Given the description of an element on the screen output the (x, y) to click on. 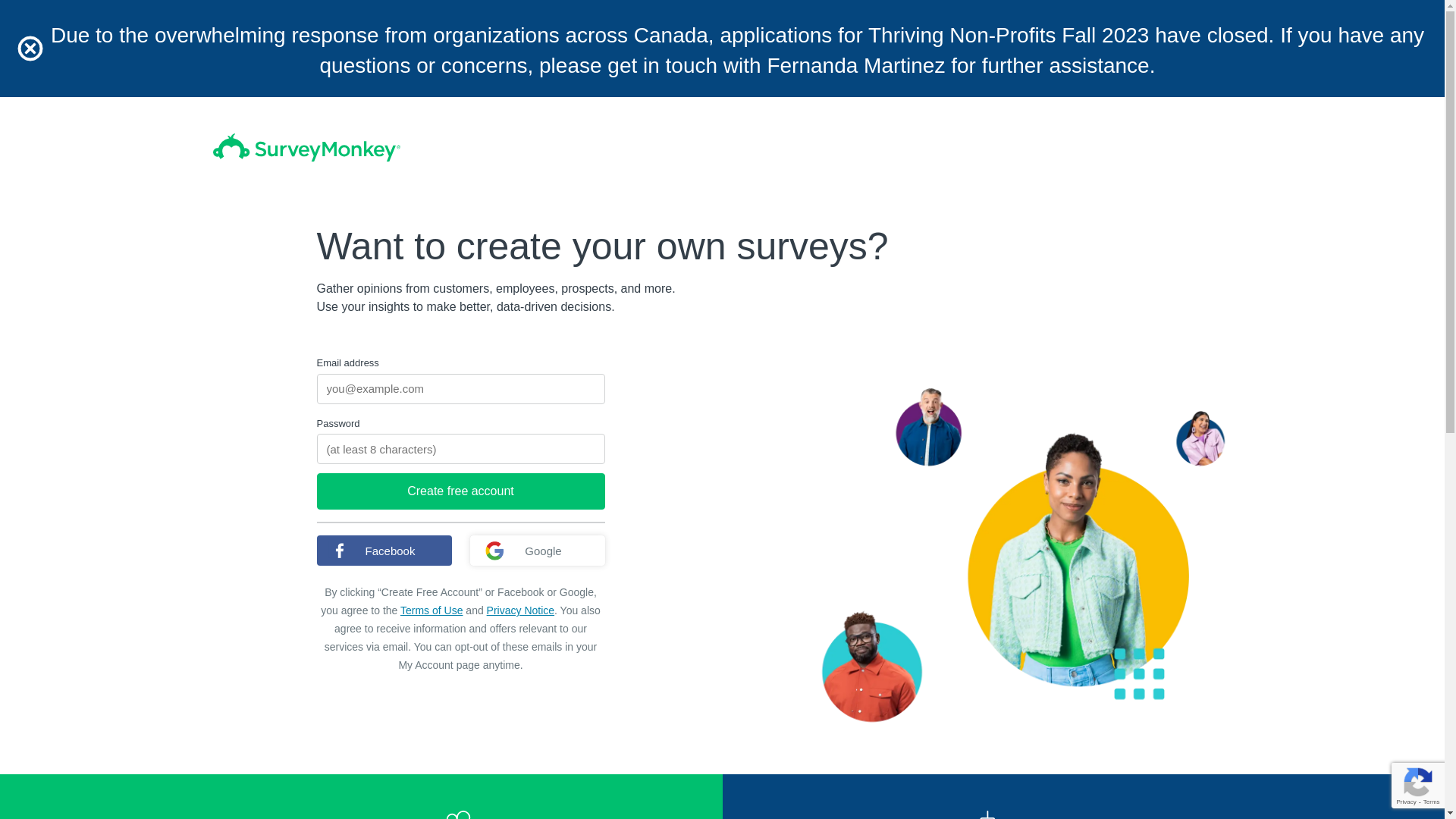
Terms of Use (431, 610)
Facebook (384, 550)
Google (537, 550)
Create free account (461, 491)
SurveyMonkey logo with text in primary (305, 147)
SurveyMonkey logo with text in primary (305, 147)
Privacy Notice (520, 610)
